Given the description of an element on the screen output the (x, y) to click on. 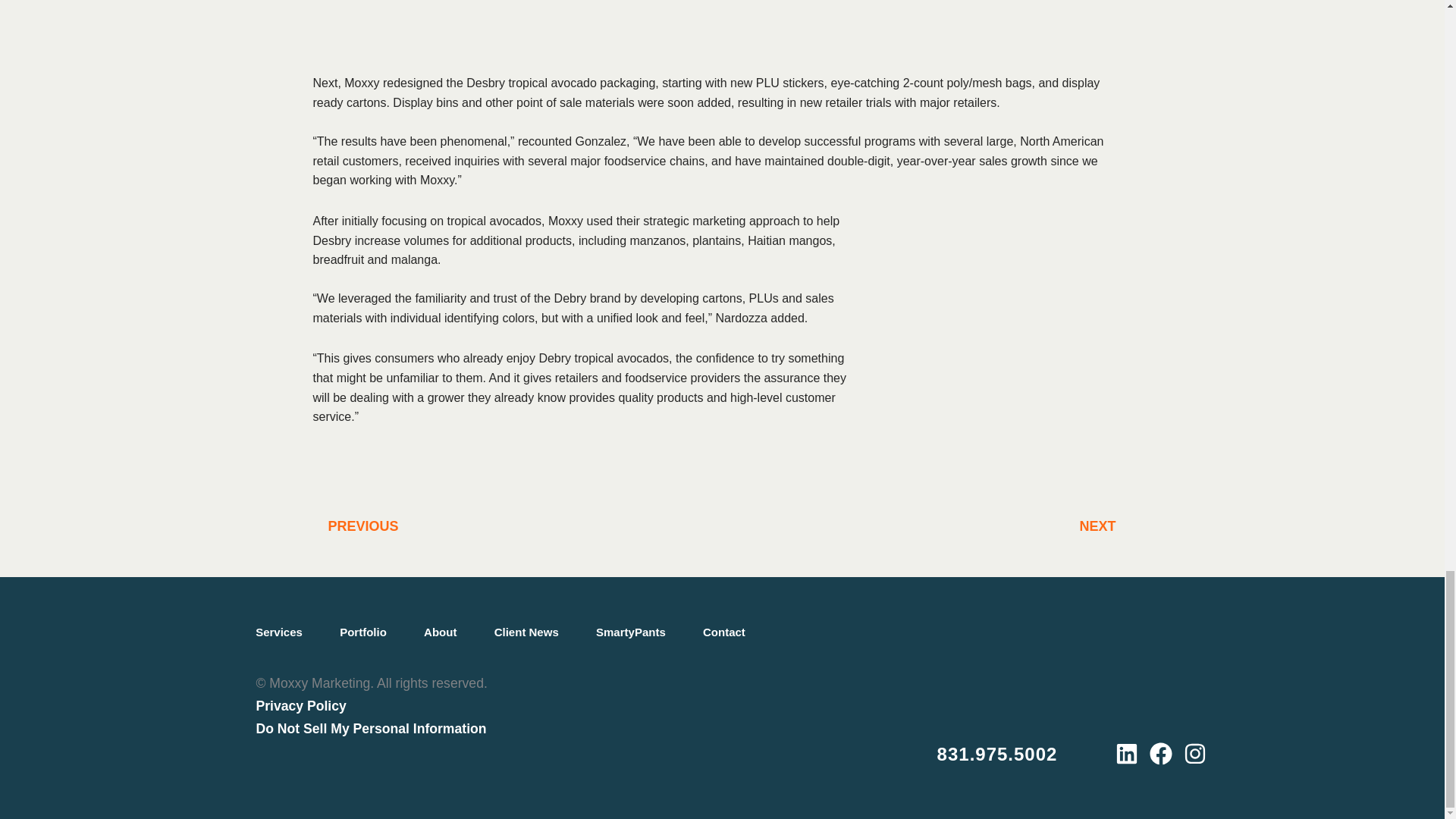
Portfolio (363, 632)
Do Not Sell My Personal Information (371, 728)
Client News (526, 632)
Privacy Policy (301, 705)
SmartyPants (926, 526)
About (517, 526)
Contact (630, 632)
Services (440, 632)
